Given the description of an element on the screen output the (x, y) to click on. 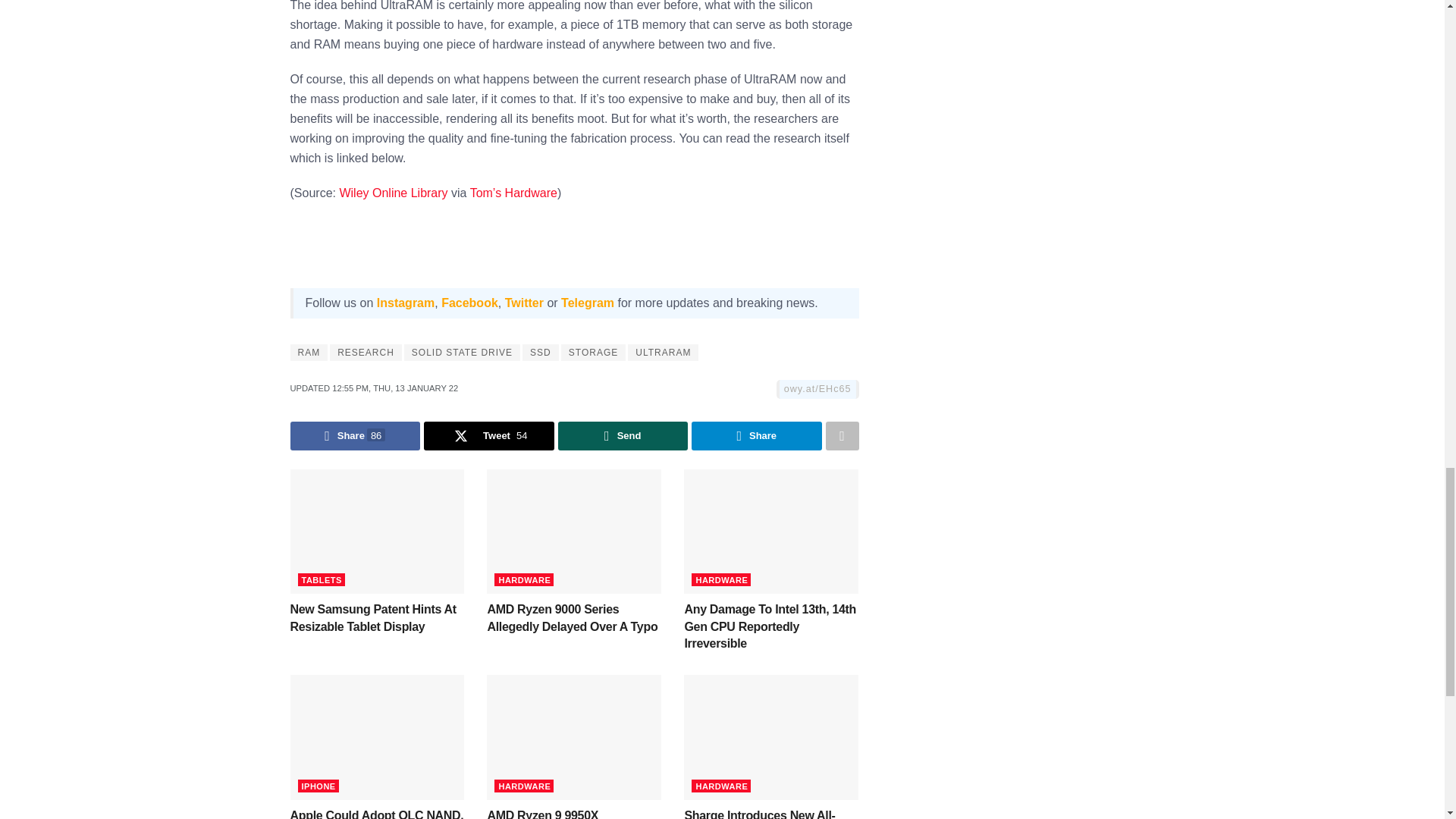
New Samsung Patent Hints At Resizable Tablet Display 3 (376, 531)
Sharge Introduces New All-Around 100W Charging Station 8 (771, 736)
AMD Ryzen 9000 Series Allegedly Delayed Over A Typo 4 (573, 531)
AMD Ryzen 9 9950X Reportedly Hits 6GHz Boost 7 (573, 736)
Apple Could Adopt QLC NAND, Pave The Way For 2TB iPhones 6 (376, 736)
